Given the description of an element on the screen output the (x, y) to click on. 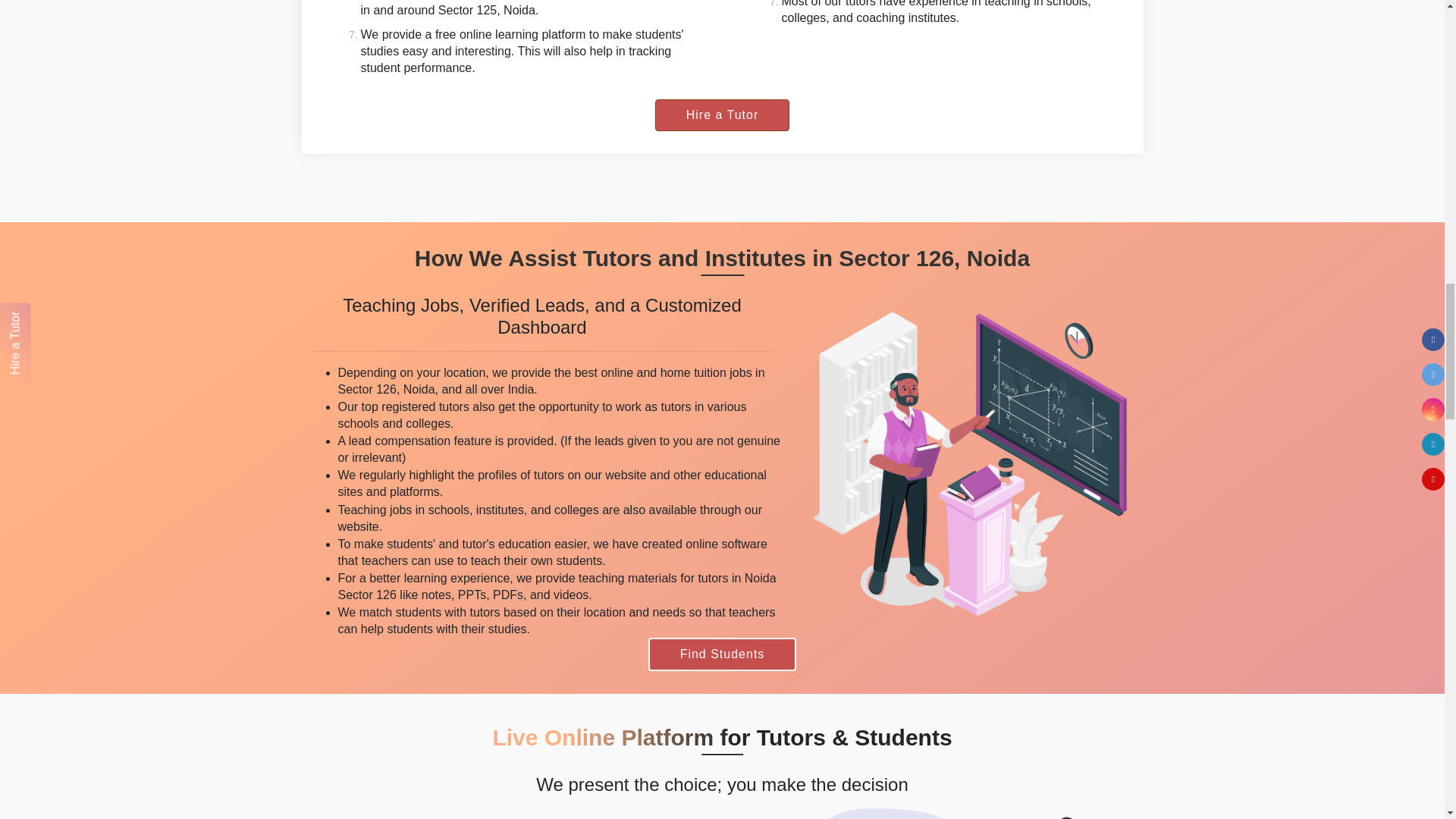
Find Students (721, 654)
Hire a Tutor (722, 115)
